Given the description of an element on the screen output the (x, y) to click on. 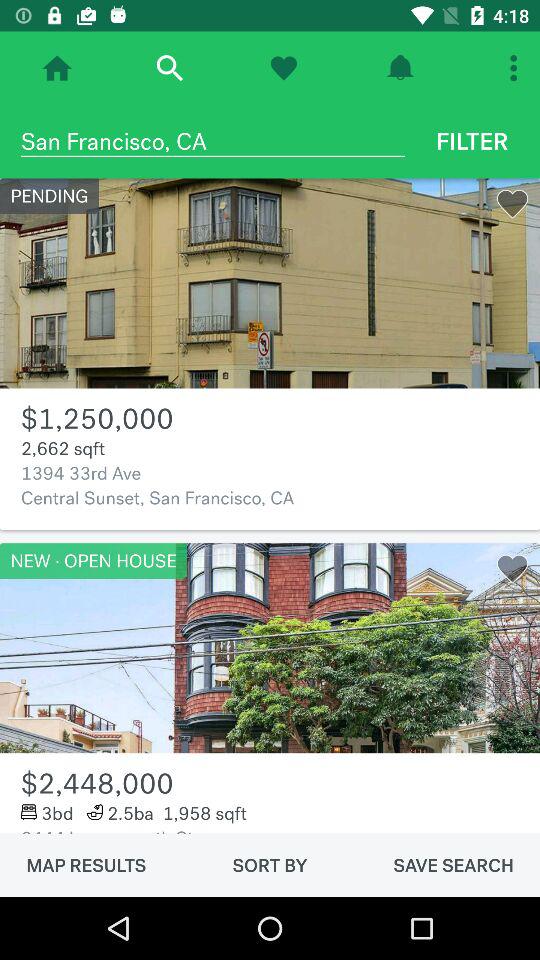
click on search icon (169, 67)
click on the three dot button at the top right corner (516, 68)
